Given the description of an element on the screen output the (x, y) to click on. 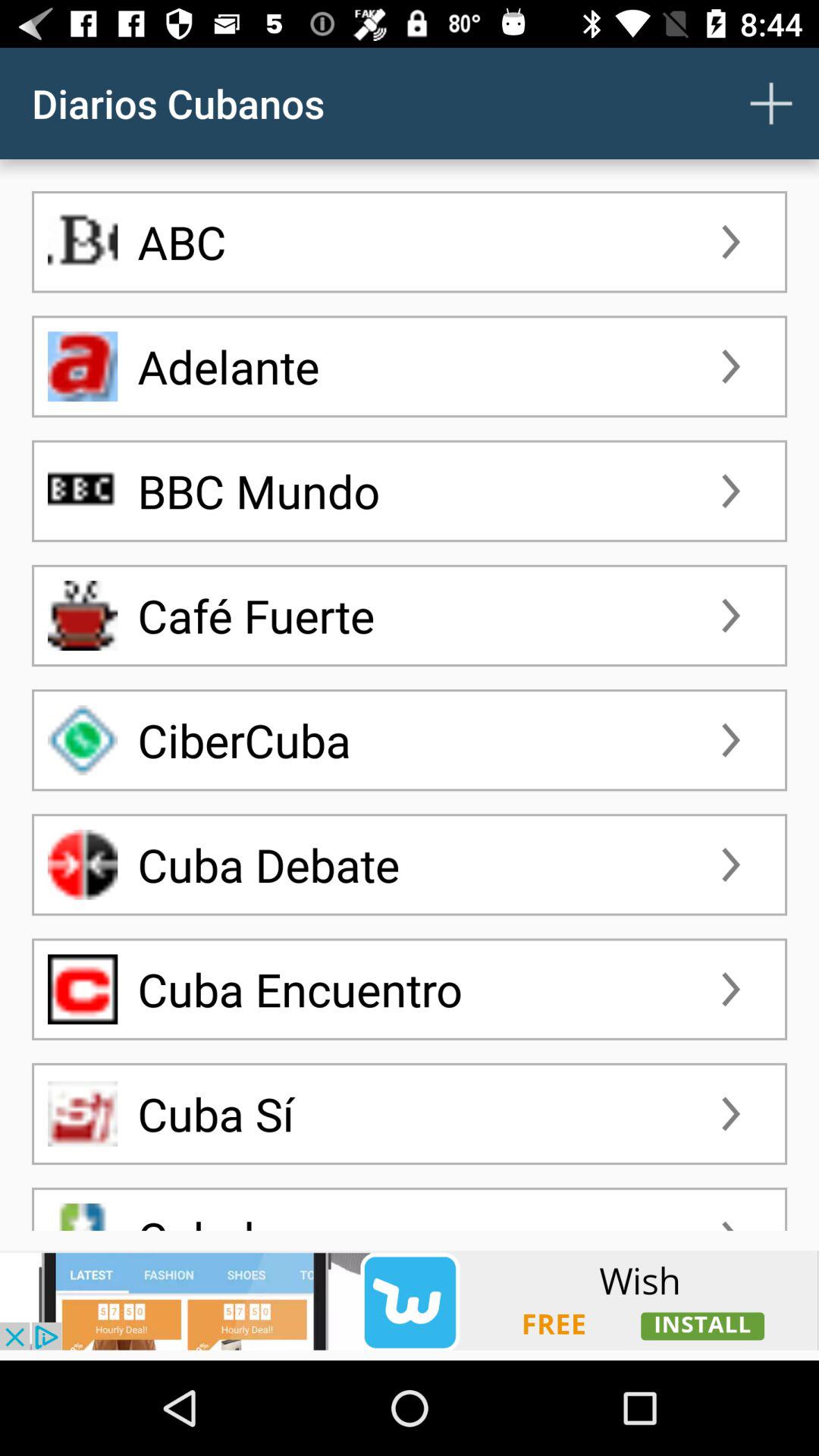
open menu (771, 103)
